Given the description of an element on the screen output the (x, y) to click on. 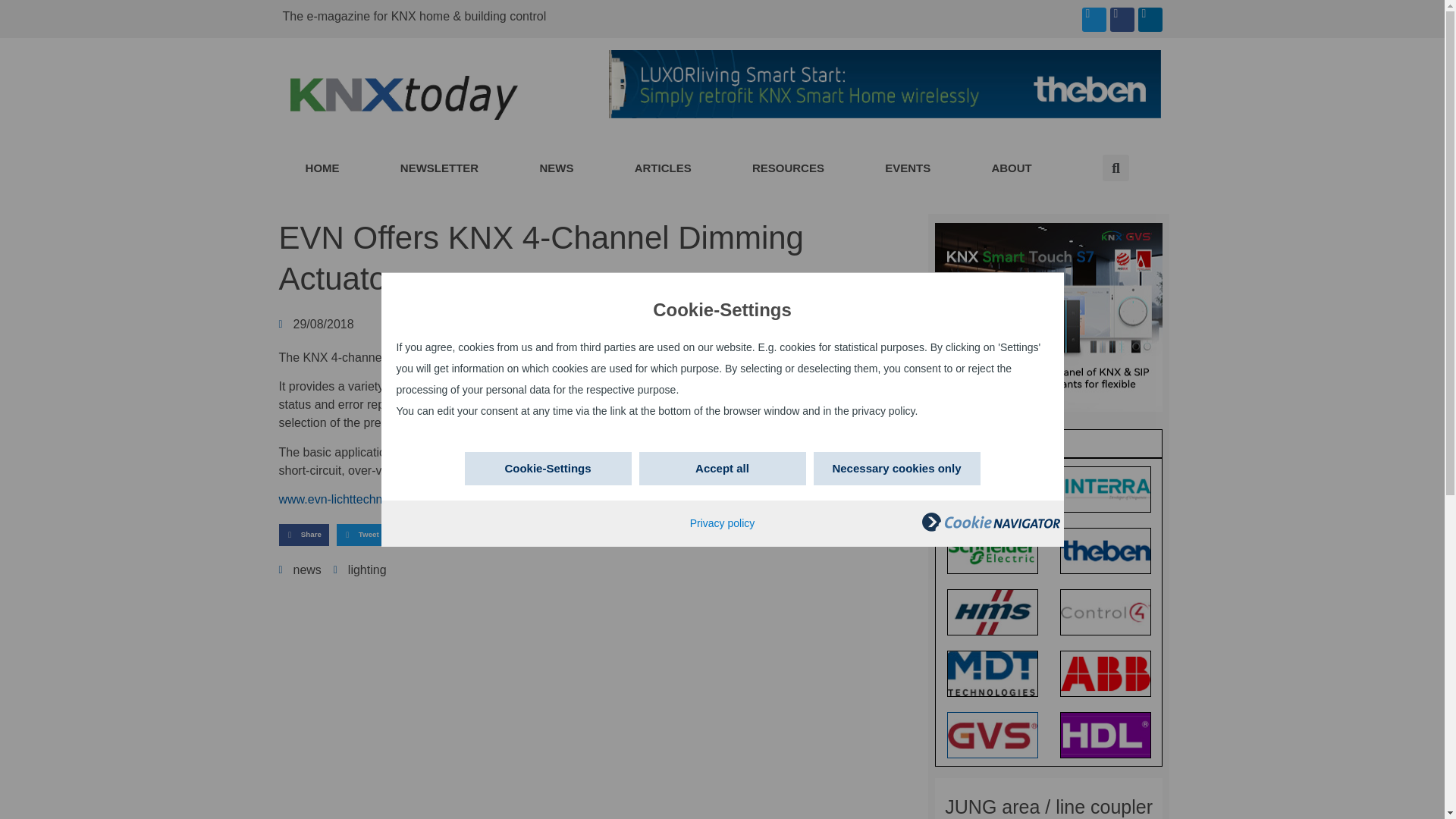
HOME (322, 167)
NEWS (556, 167)
Cookie-Navigator (990, 521)
Necessary cookies only (895, 468)
ABOUT (1011, 167)
Privacy policy (722, 522)
RESOURCES (788, 167)
Cookie-Navigator (990, 527)
Cookie-Settings (547, 468)
Accept all (722, 468)
NEWSLETTER (439, 167)
ARTICLES (663, 167)
EVENTS (907, 167)
